Given the description of an element on the screen output the (x, y) to click on. 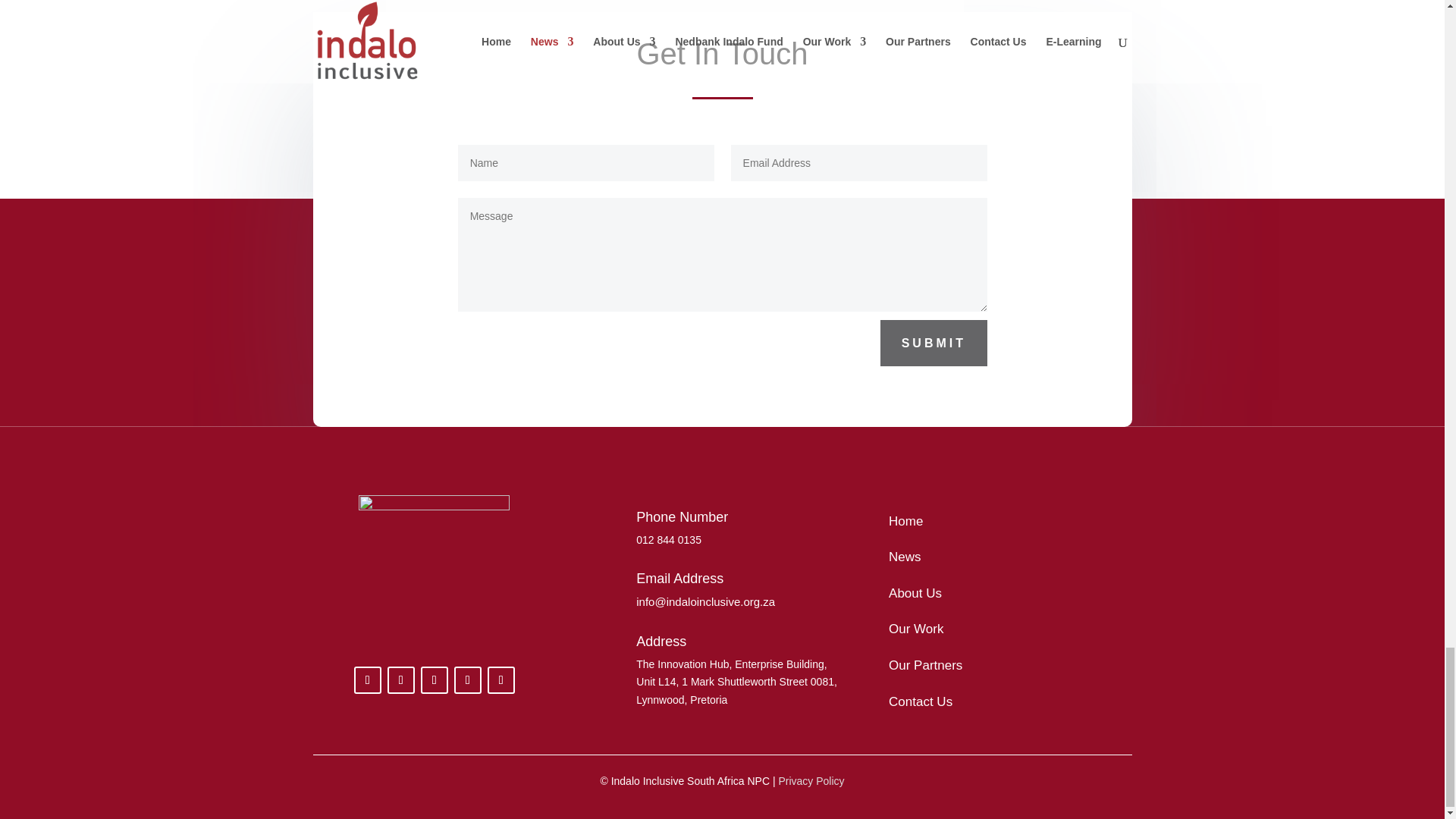
Follow on LinkedIn (400, 679)
Follow on Instagram (467, 679)
Follow on X (434, 679)
Follow on Youtube (501, 679)
Follow on Facebook (367, 679)
